Given the description of an element on the screen output the (x, y) to click on. 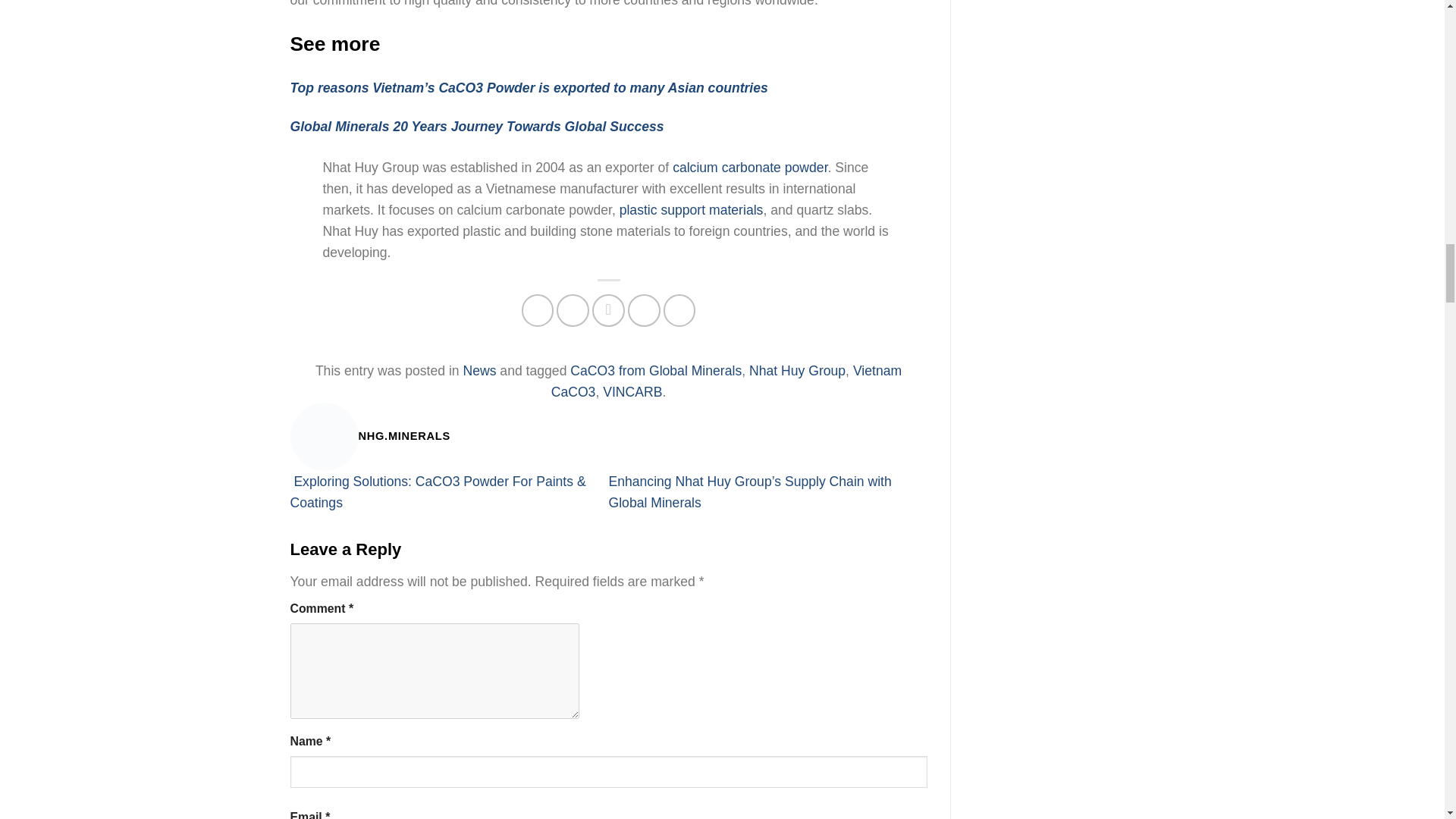
Share on Facebook (537, 310)
Global Minerals 20 Years Journey Towards Global Success (476, 126)
Email to a Friend (608, 310)
plastic support materials (691, 209)
Share on Twitter (572, 310)
Share on LinkedIn (679, 310)
calcium carbonate powder (749, 167)
Pin on Pinterest (644, 310)
